Given the description of an element on the screen output the (x, y) to click on. 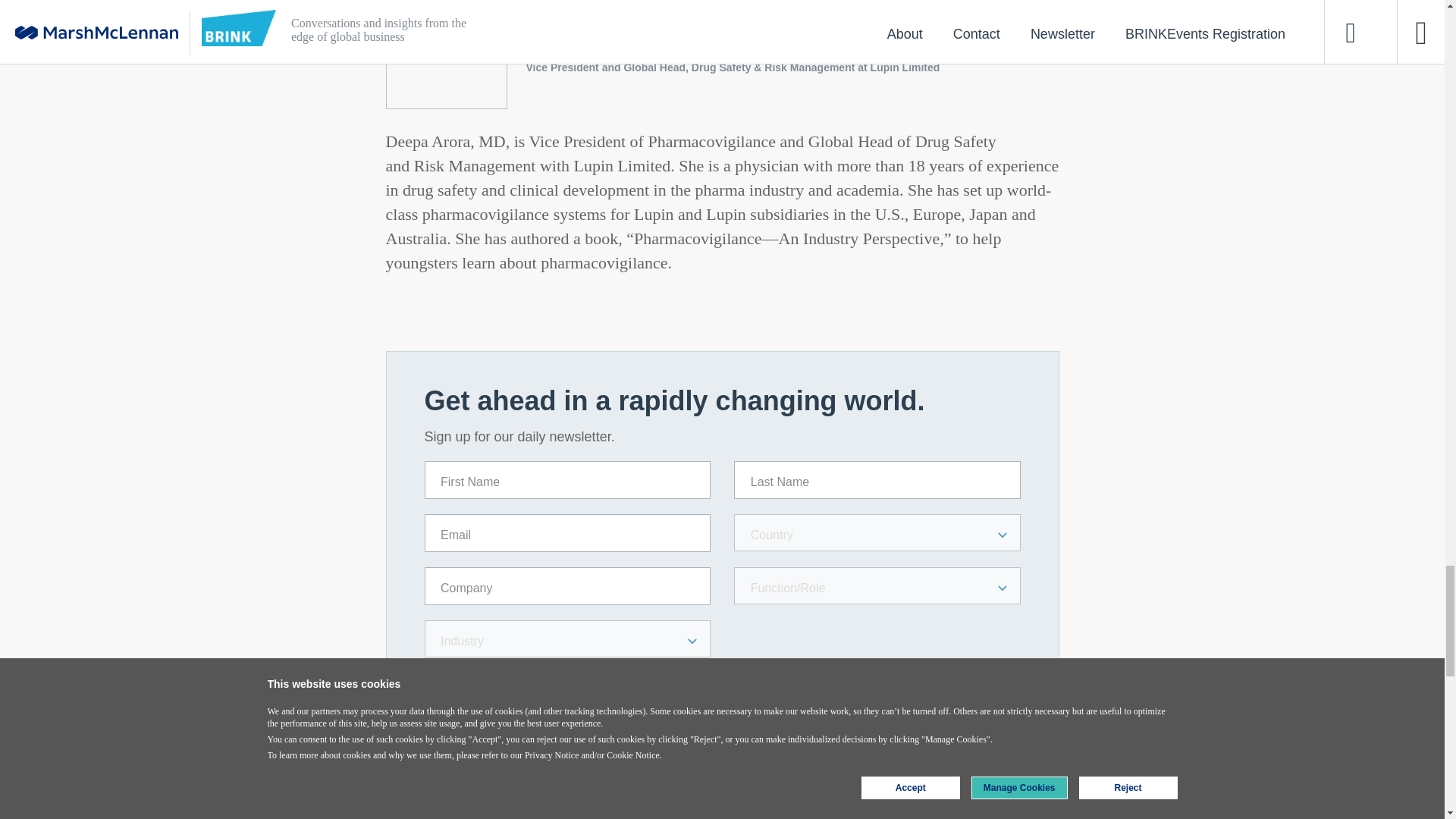
Subscribe (484, 692)
